Given the description of an element on the screen output the (x, y) to click on. 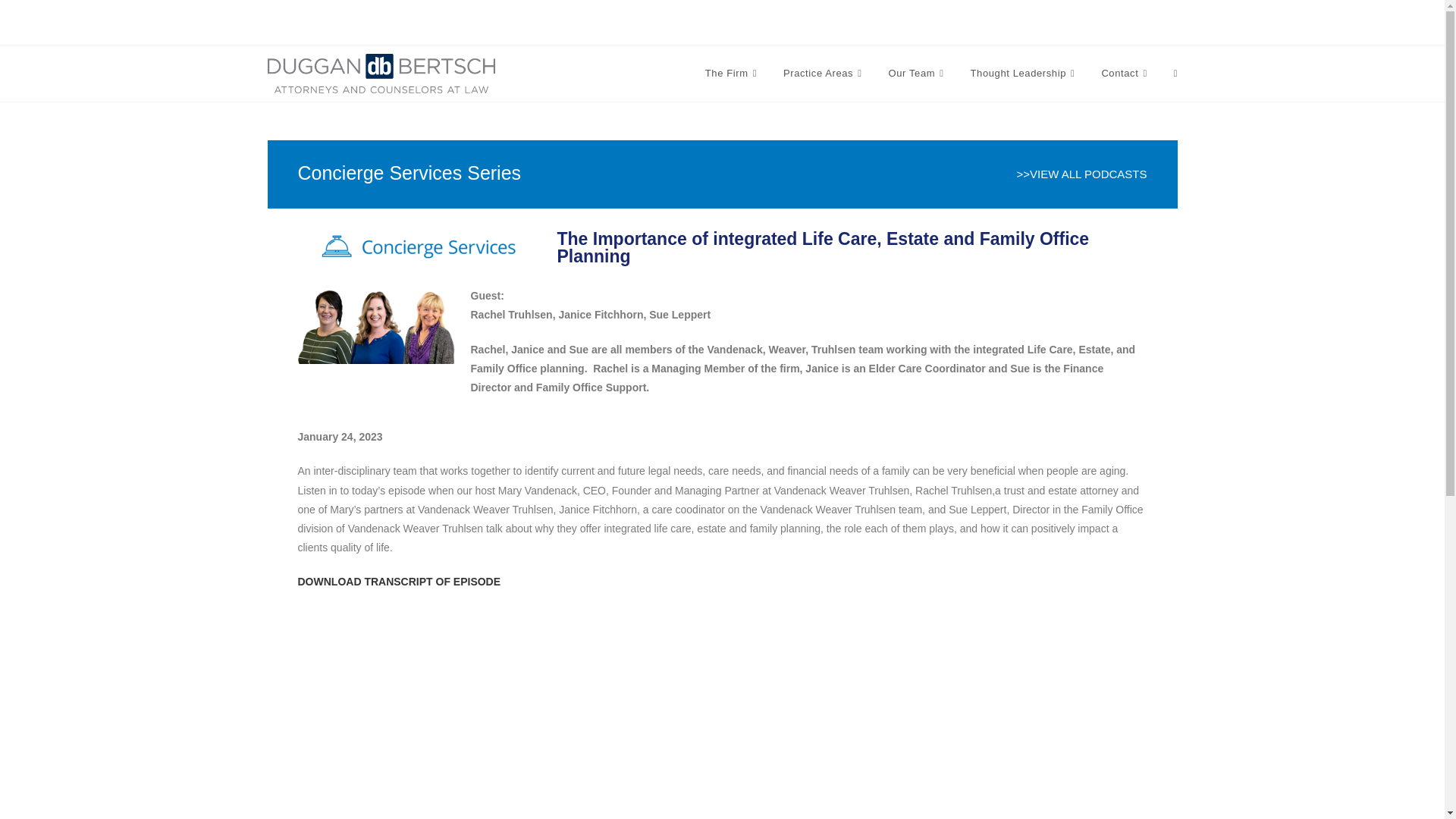
Thought Leadership (1024, 73)
Our Team (918, 73)
The Firm (732, 73)
Practice Areas (824, 73)
